Given the description of an element on the screen output the (x, y) to click on. 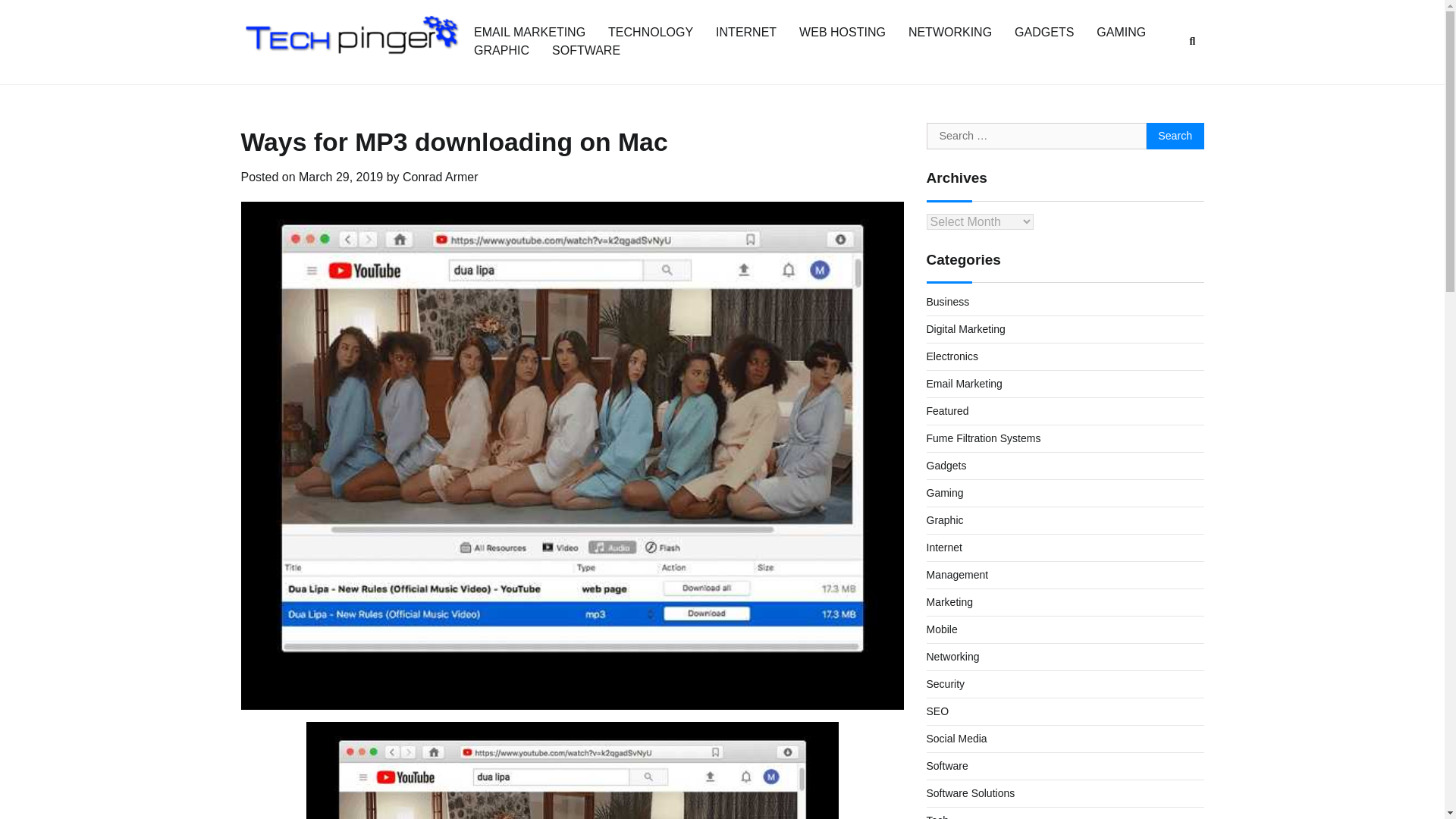
Social Media (956, 738)
Email Marketing (964, 383)
Electronics (952, 356)
Digital Marketing (966, 328)
Search (1175, 135)
Networking (952, 656)
SOFTWARE (585, 49)
Business (947, 301)
EMAIL MARKETING (529, 31)
Marketing (949, 602)
